Given the description of an element on the screen output the (x, y) to click on. 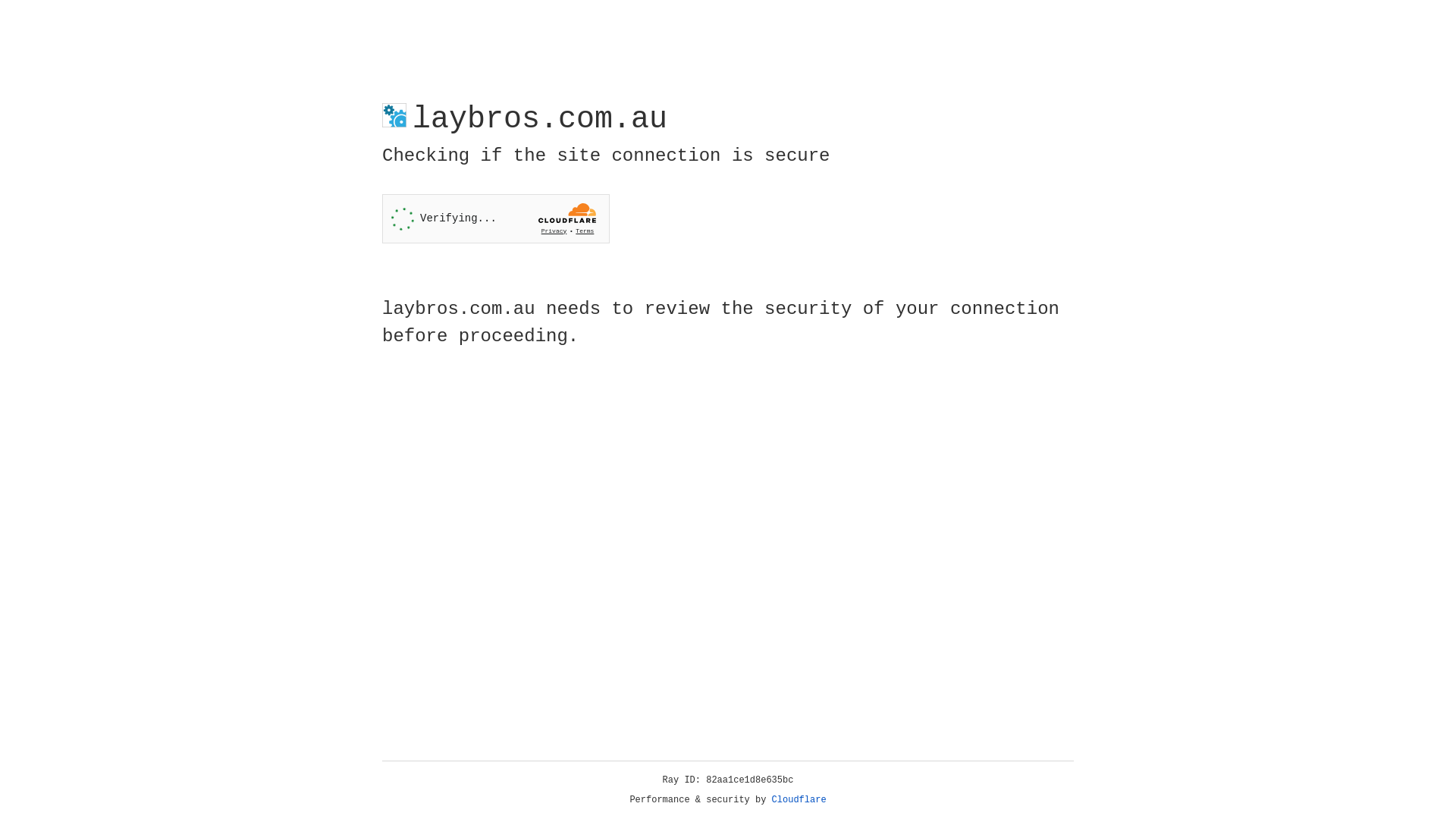
Cloudflare Element type: text (798, 799)
Widget containing a Cloudflare security challenge Element type: hover (495, 218)
